Given the description of an element on the screen output the (x, y) to click on. 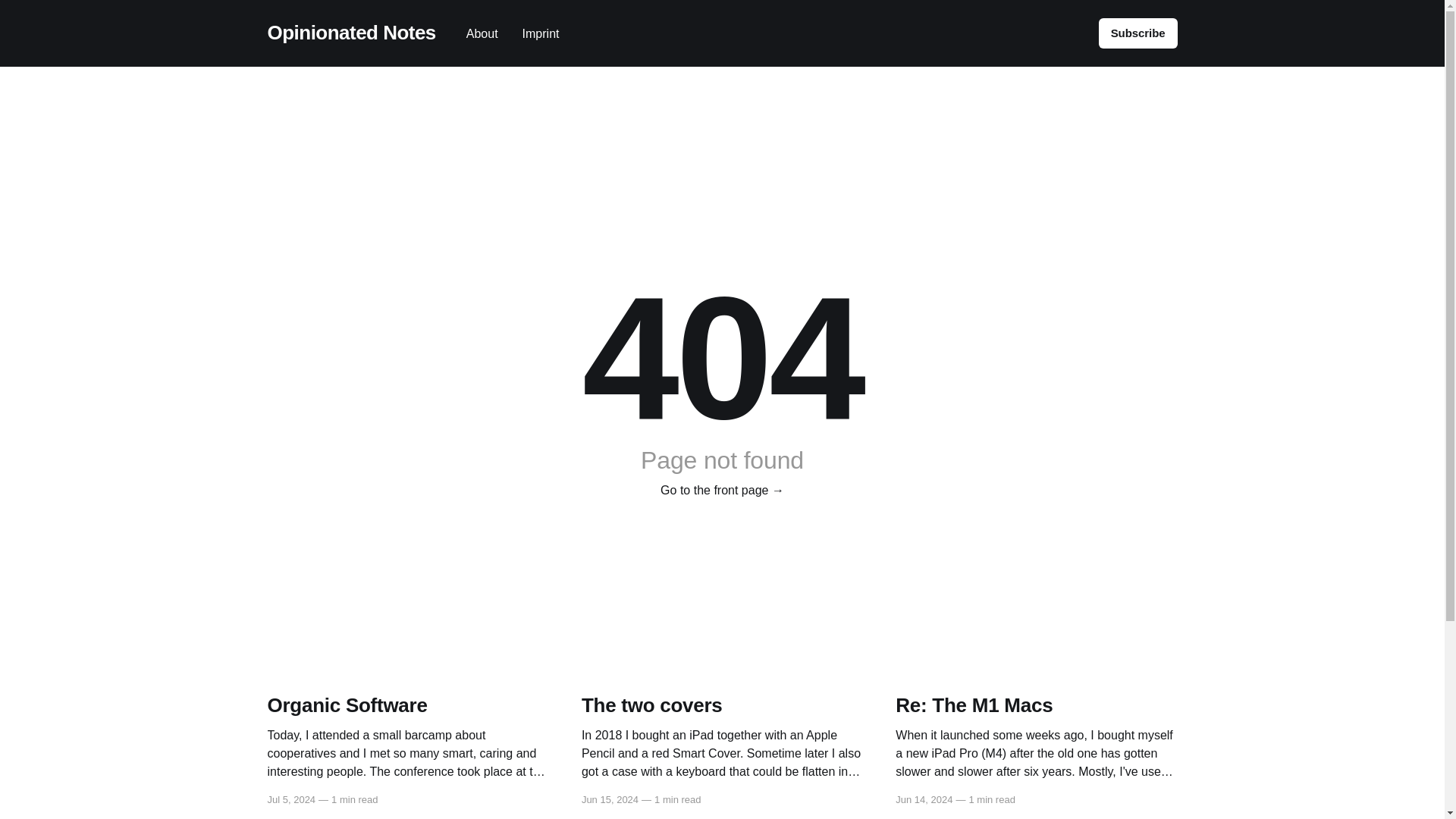
Imprint (540, 33)
Opinionated Notes (350, 32)
About (481, 33)
Subscribe (1138, 33)
